Given the description of an element on the screen output the (x, y) to click on. 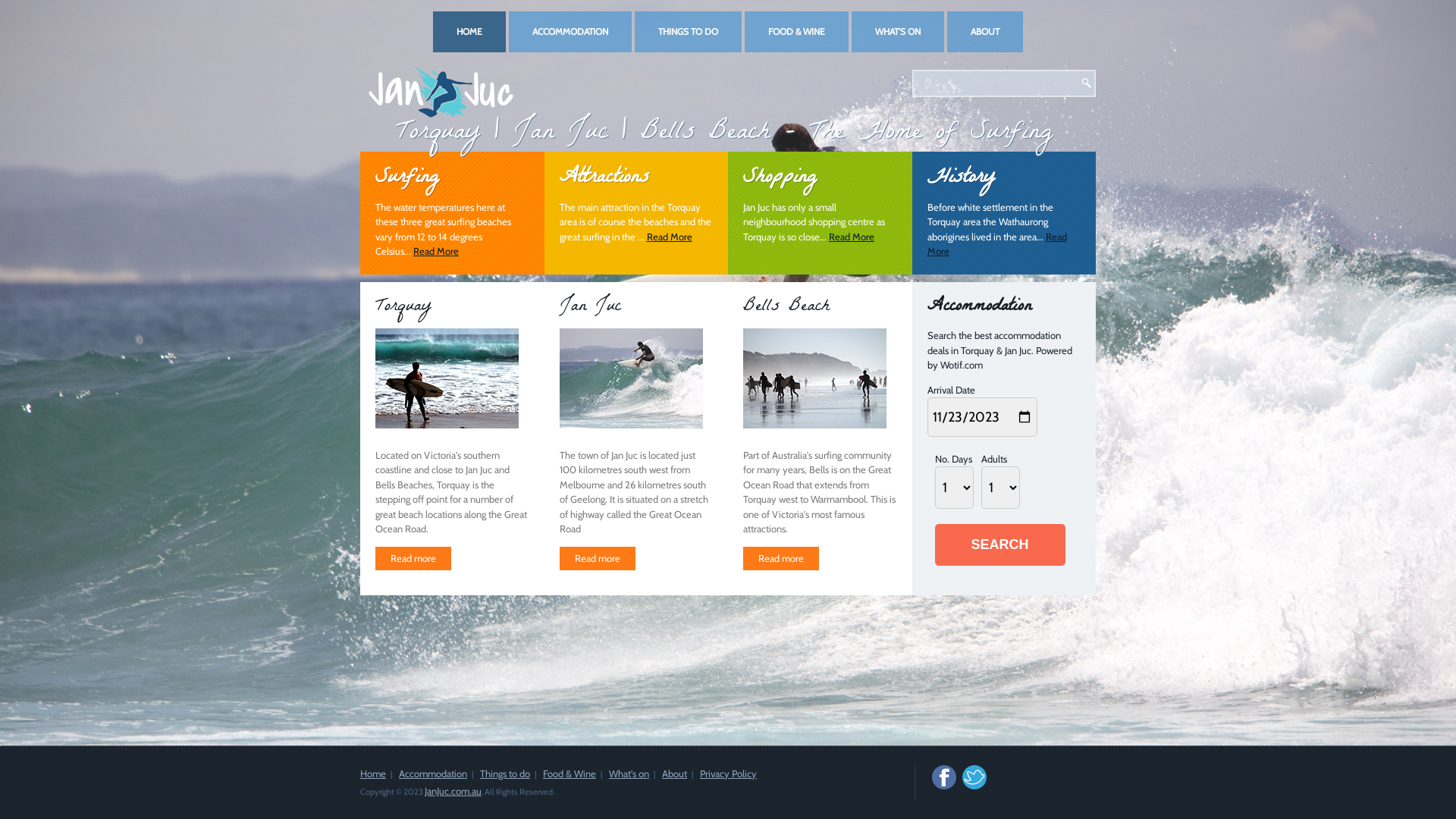
FOOD & WINE Element type: text (796, 31)
Read More Element type: text (668, 236)
HOME Element type: text (469, 31)
THINGS TO DO Element type: text (687, 31)
WHAT'S ON Element type: text (897, 31)
About Element type: text (674, 773)
Jan Juc Element type: text (560, 133)
Read more Element type: text (597, 558)
Read More Element type: text (996, 243)
Read more Element type: text (413, 558)
ACCOMMODATION Element type: text (569, 31)
Home Element type: text (372, 773)
Bells Beach - The Home of Surfing Element type: text (846, 133)
What's on Element type: text (628, 773)
Things to do Element type: text (505, 773)
Read more Element type: text (781, 558)
Read More Element type: text (851, 236)
Read More Element type: text (435, 250)
SEARCH Element type: text (999, 544)
Torquay Element type: text (437, 133)
Food & Wine Element type: text (569, 773)
Accommodation Element type: text (432, 773)
JanJuc.com.au Element type: text (452, 790)
Privacy Policy Element type: text (727, 773)
ABOUT Element type: text (984, 31)
